Given the description of an element on the screen output the (x, y) to click on. 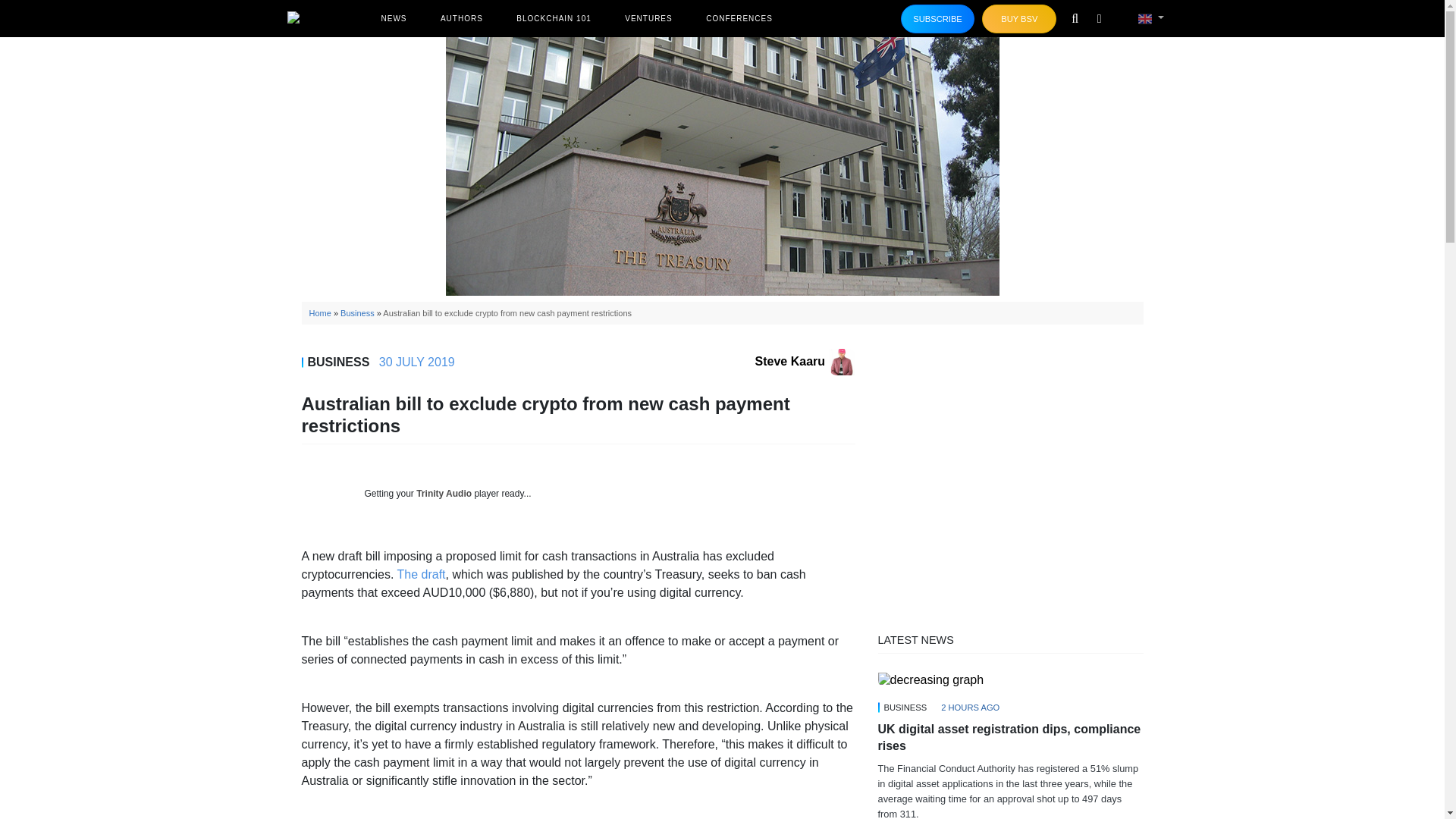
Never miss an update again! Subscribe to Newsletter! (938, 18)
Steve Kaaru (805, 360)
SUBSCRIBE (938, 18)
BLOCKCHAIN 101 (553, 18)
The draft (420, 574)
CONFERENCES (739, 18)
Business (357, 312)
VENTURES (648, 18)
Trinity Audio (443, 493)
